Given the description of an element on the screen output the (x, y) to click on. 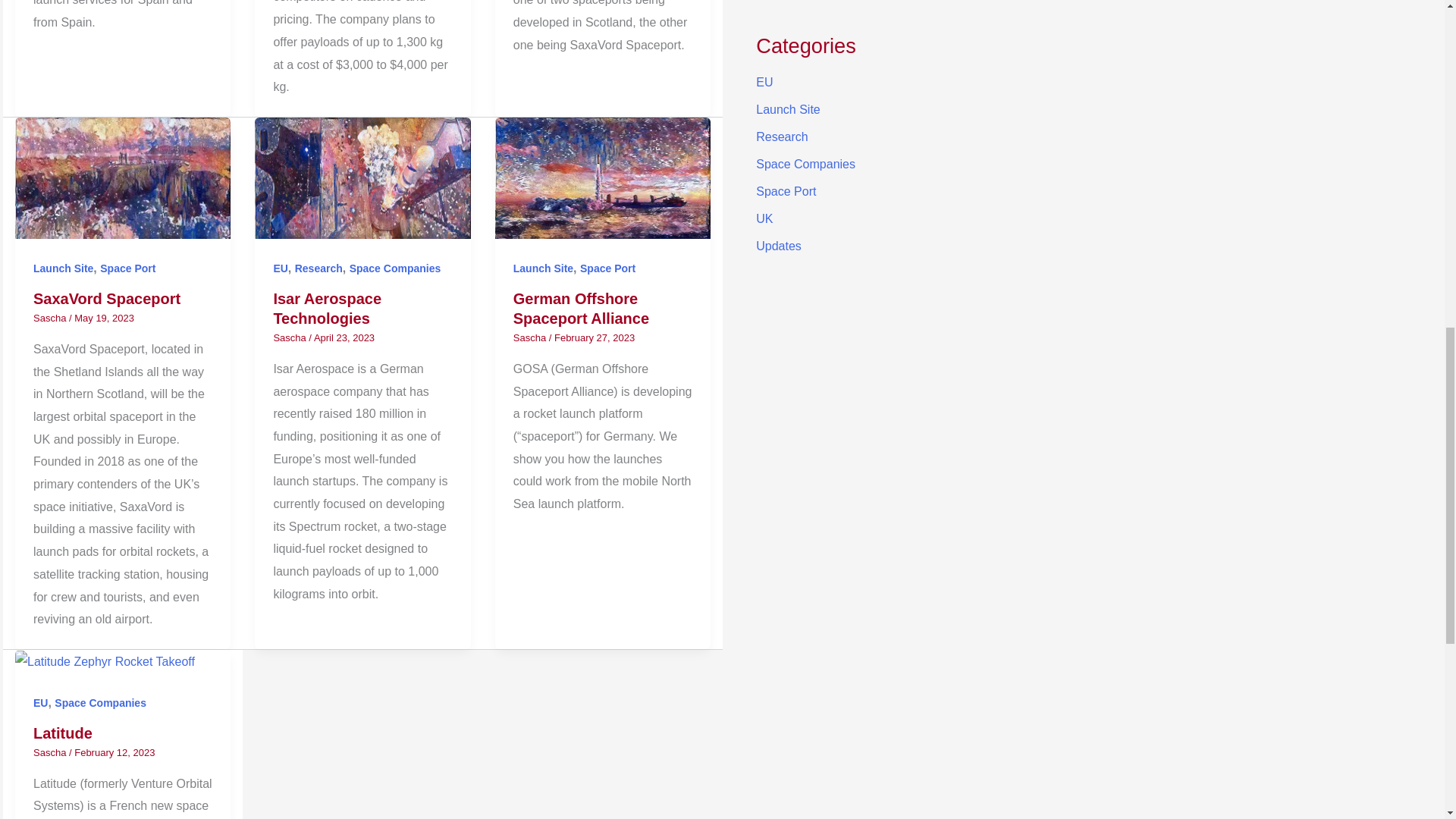
View all posts by Sascha (290, 337)
View all posts by Sascha (50, 752)
View all posts by Sascha (50, 317)
View all posts by Sascha (530, 337)
